Given the description of an element on the screen output the (x, y) to click on. 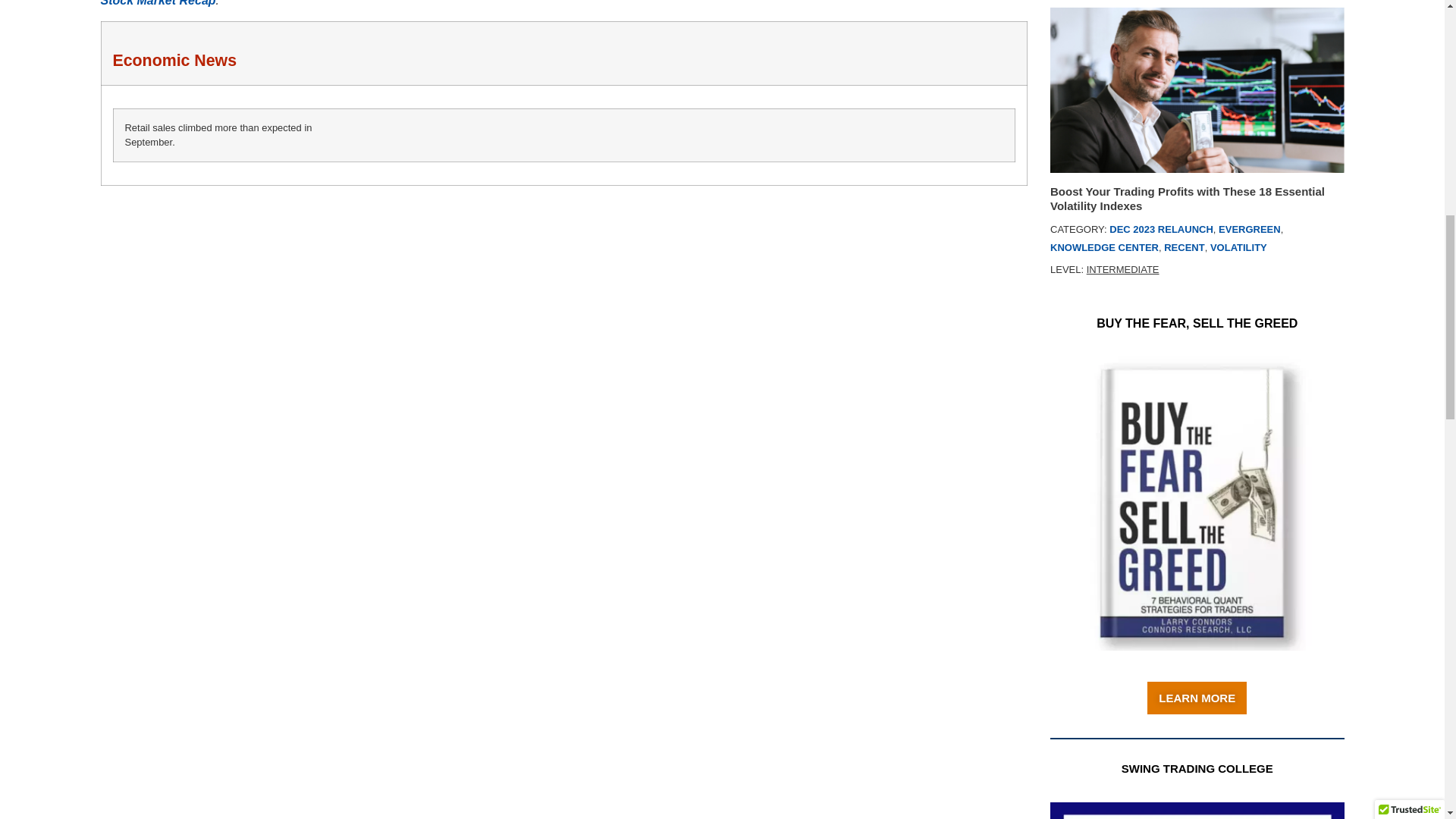
Stock Market Recap (157, 12)
